Given the description of an element on the screen output the (x, y) to click on. 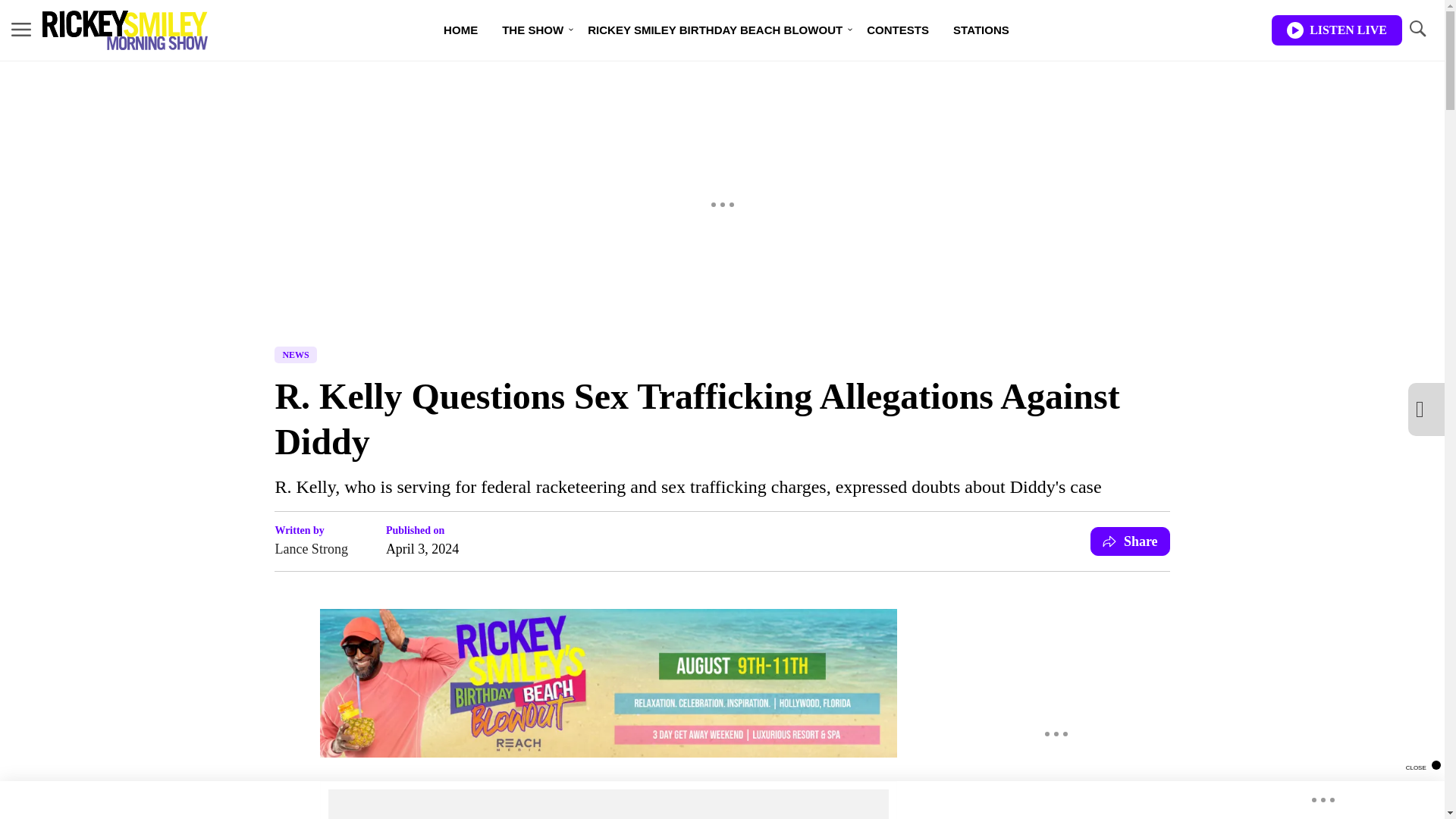
Stations (981, 30)
Lance Strong (311, 548)
TOGGLE SEARCH (1417, 28)
Share (1130, 541)
RICKEY SMILEY BIRTHDAY BEACH BLOWOUT (714, 30)
THE SHOW (532, 30)
NEWS (295, 354)
CONTESTS (897, 30)
MENU (20, 30)
LISTEN LIVE (1336, 30)
STATIONS (981, 30)
TOGGLE SEARCH (1417, 30)
HOME (459, 30)
MENU (20, 29)
